Given the description of an element on the screen output the (x, y) to click on. 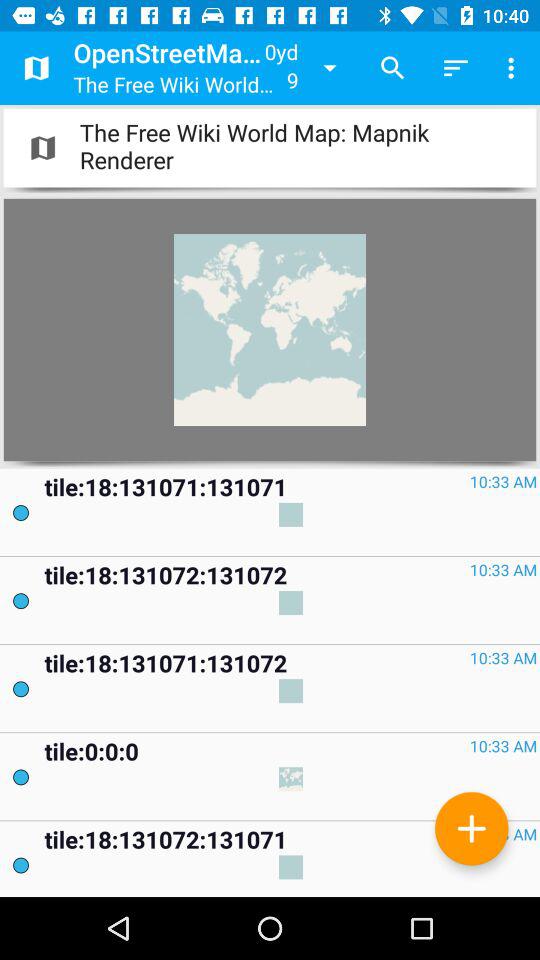
add tile to map (471, 828)
